Given the description of an element on the screen output the (x, y) to click on. 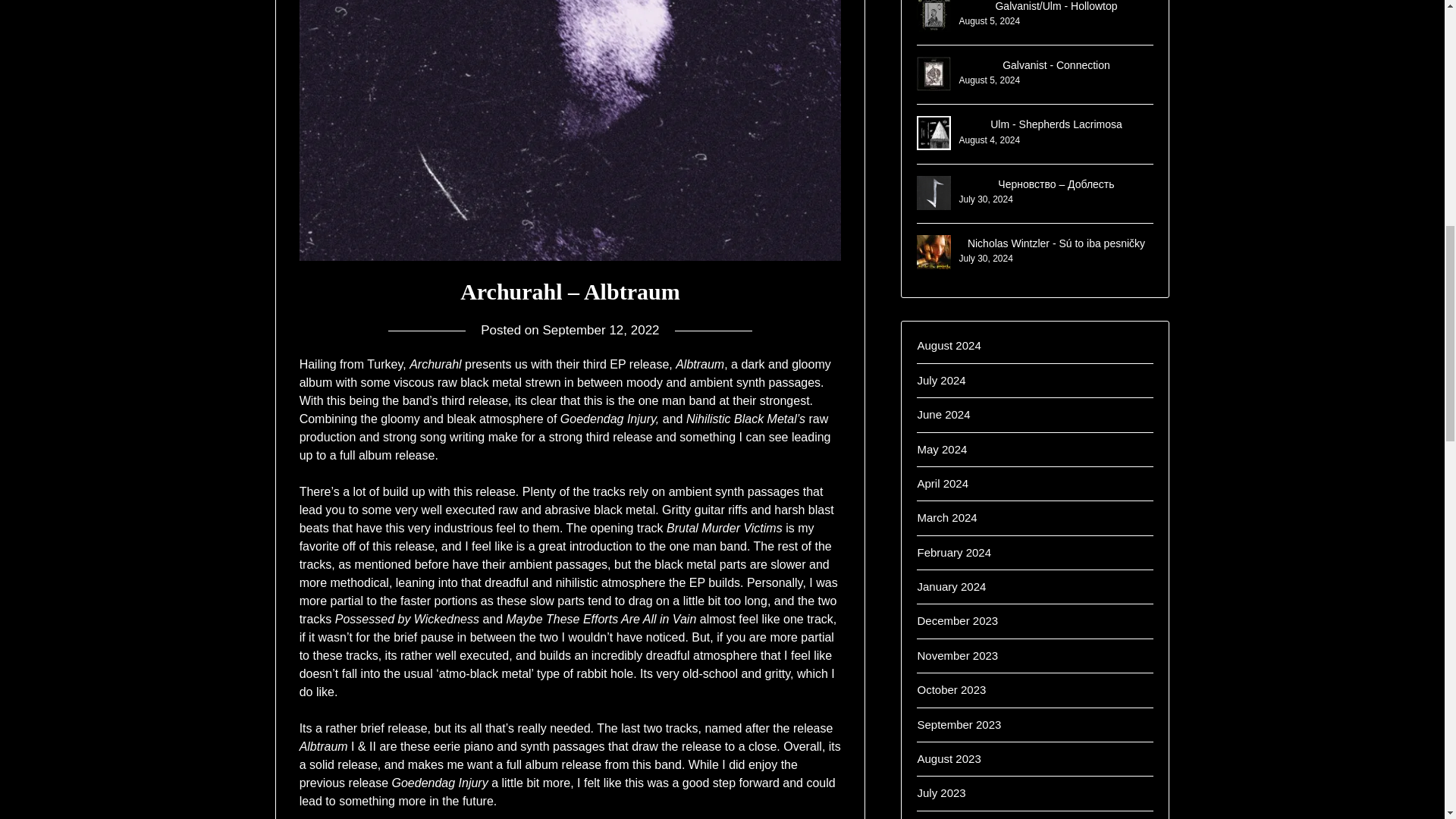
September 12, 2022 (601, 329)
June 2024 (943, 413)
April 2024 (942, 482)
March 2024 (946, 517)
September 2023 (959, 724)
October 2023 (951, 689)
Permalink to Galvanist - Connection (1056, 64)
Ulm - Shepherds Lacrimosa (1056, 123)
February 2024 (954, 552)
Permalink to Ulm - Shepherds Lacrimosa (1056, 123)
